Given the description of an element on the screen output the (x, y) to click on. 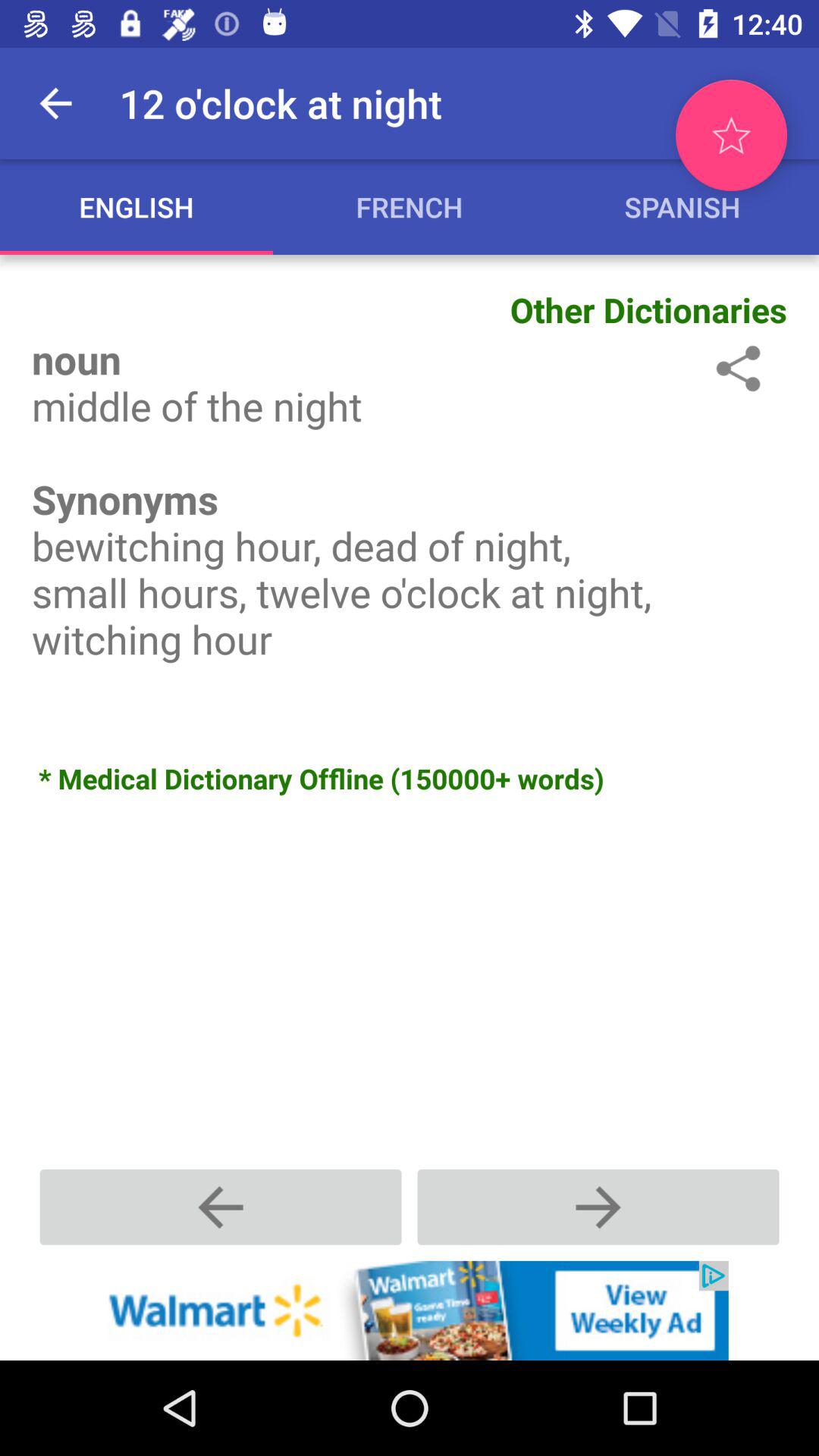
open advertisement (409, 1310)
